Given the description of an element on the screen output the (x, y) to click on. 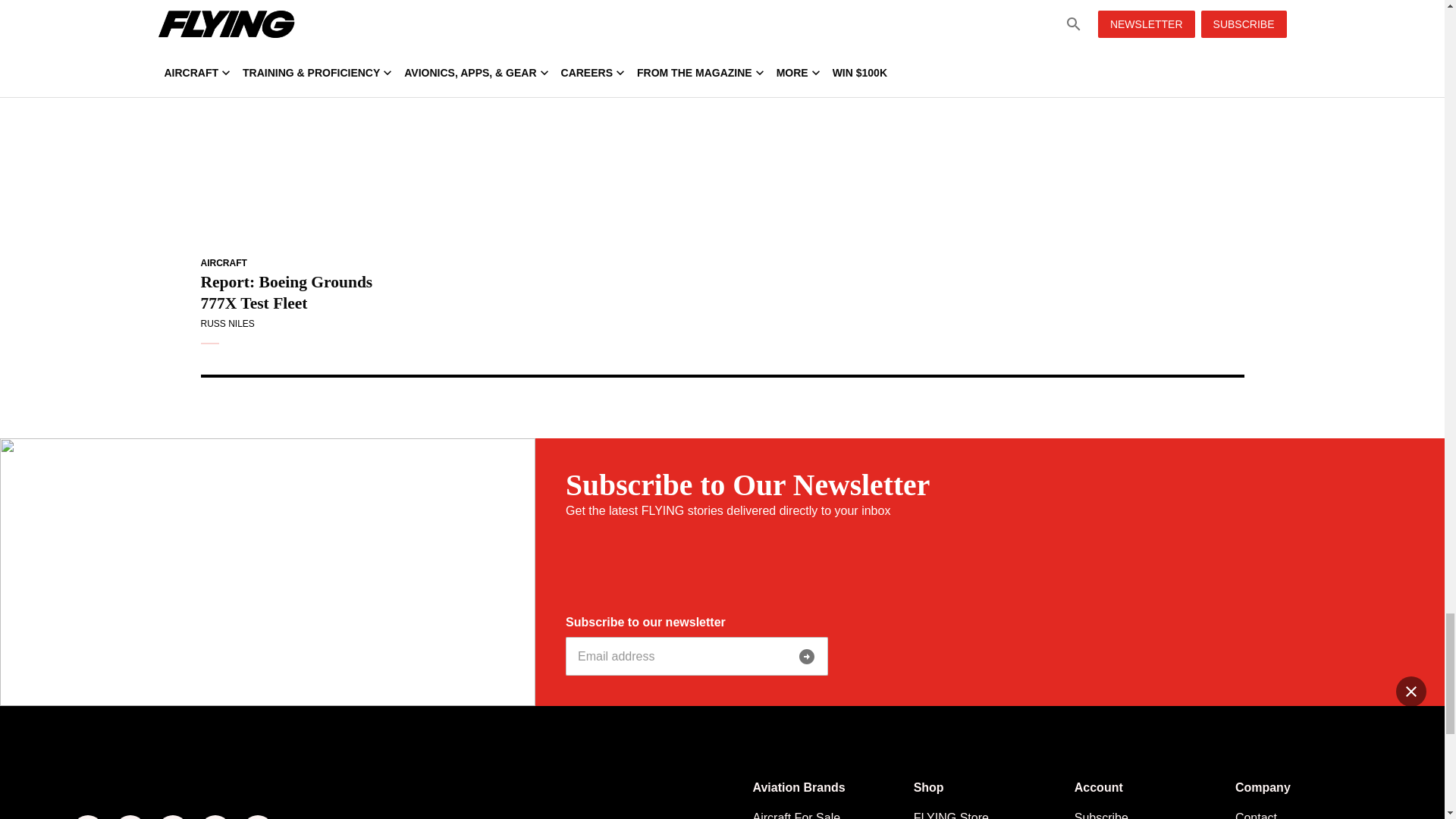
Submit (807, 656)
Facebook (87, 816)
Twitter (172, 816)
Pinterest (258, 816)
Instagram (130, 816)
Youtube (215, 816)
Report: Boeing Grounds 777X Test Fleet (297, 150)
